Given the description of an element on the screen output the (x, y) to click on. 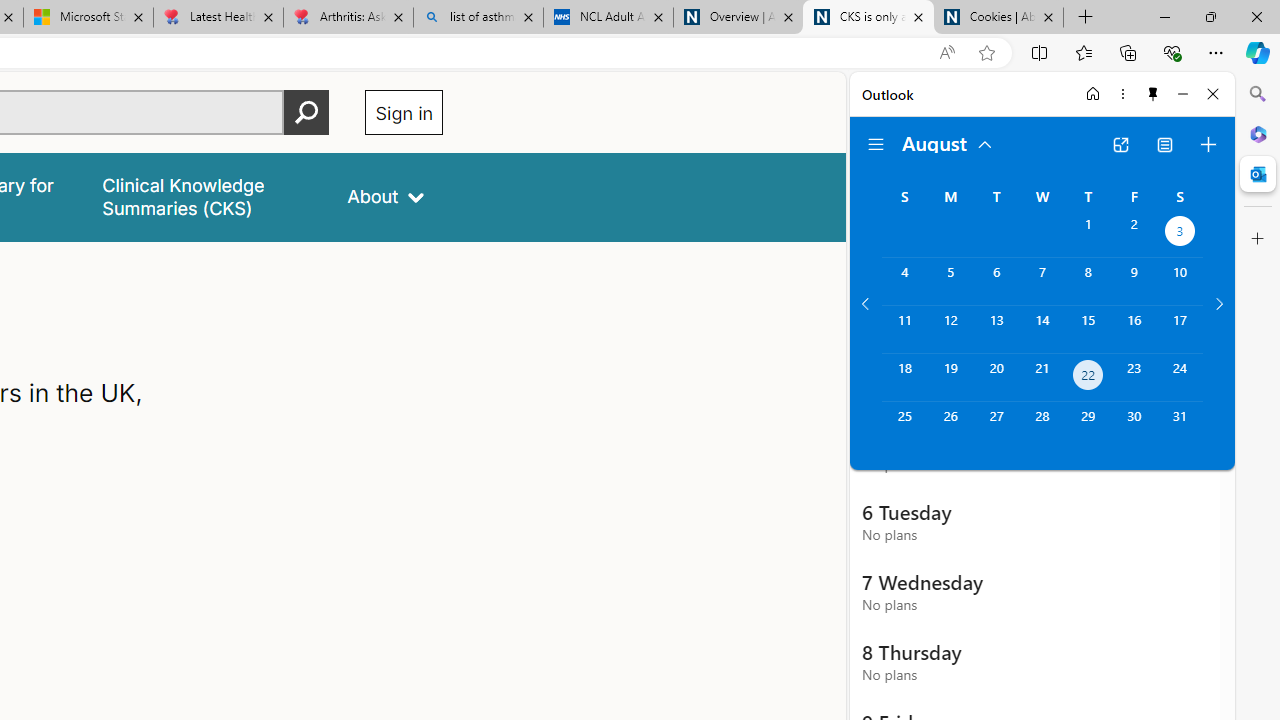
Wednesday, August 21, 2024.  (1042, 377)
Friday, August 9, 2024.  (1134, 281)
Saturday, August 24, 2024.  (1180, 377)
August (948, 141)
About (386, 196)
Open in new tab (1120, 144)
Unpin side pane (1153, 93)
Cookies | About | NICE (998, 17)
Arthritis: Ask Health Professionals (348, 17)
Saturday, August 31, 2024.  (1180, 425)
false (207, 196)
Tuesday, August 20, 2024.  (996, 377)
